Given the description of an element on the screen output the (x, y) to click on. 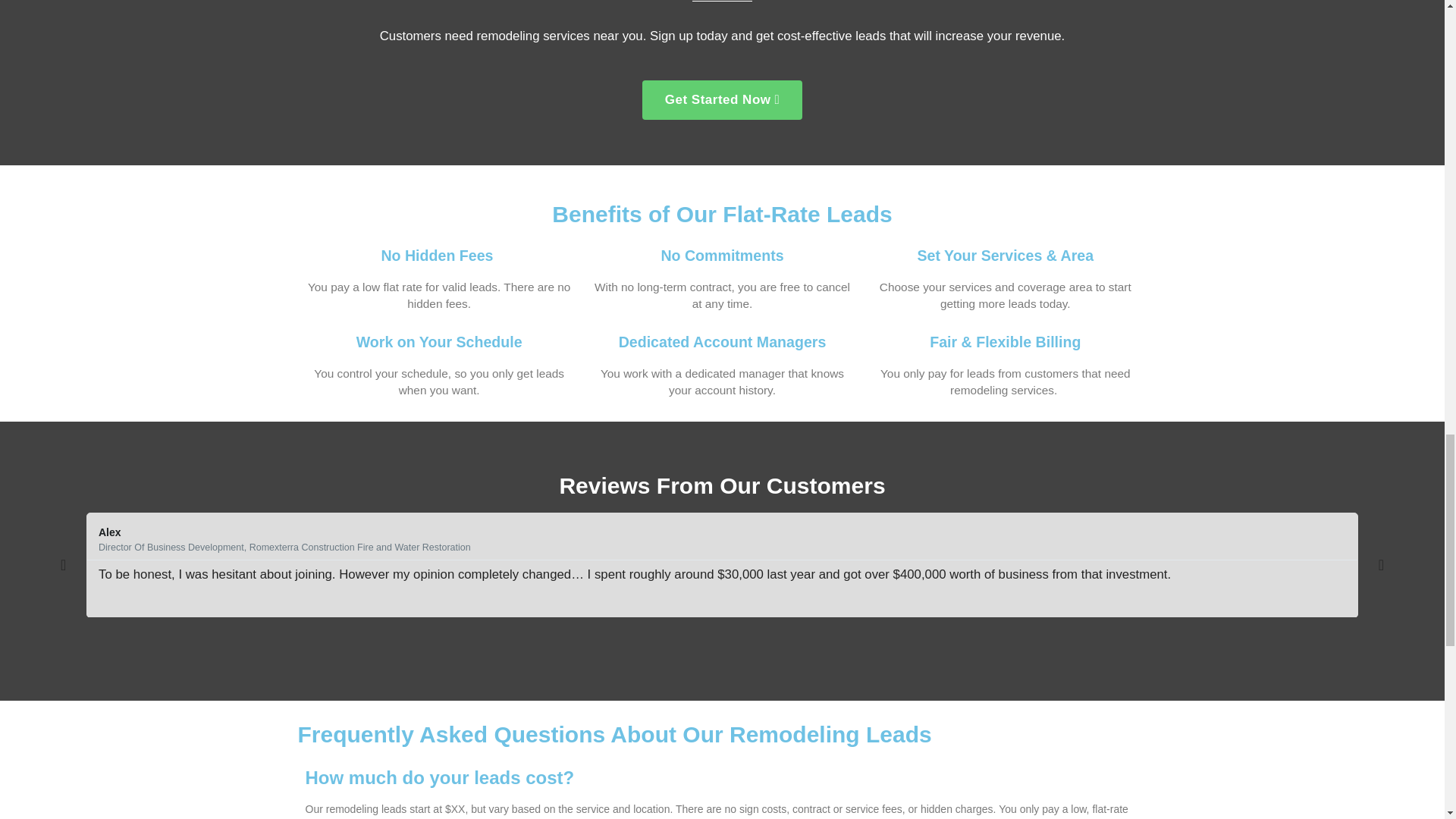
Get Started Now (722, 99)
